Given the description of an element on the screen output the (x, y) to click on. 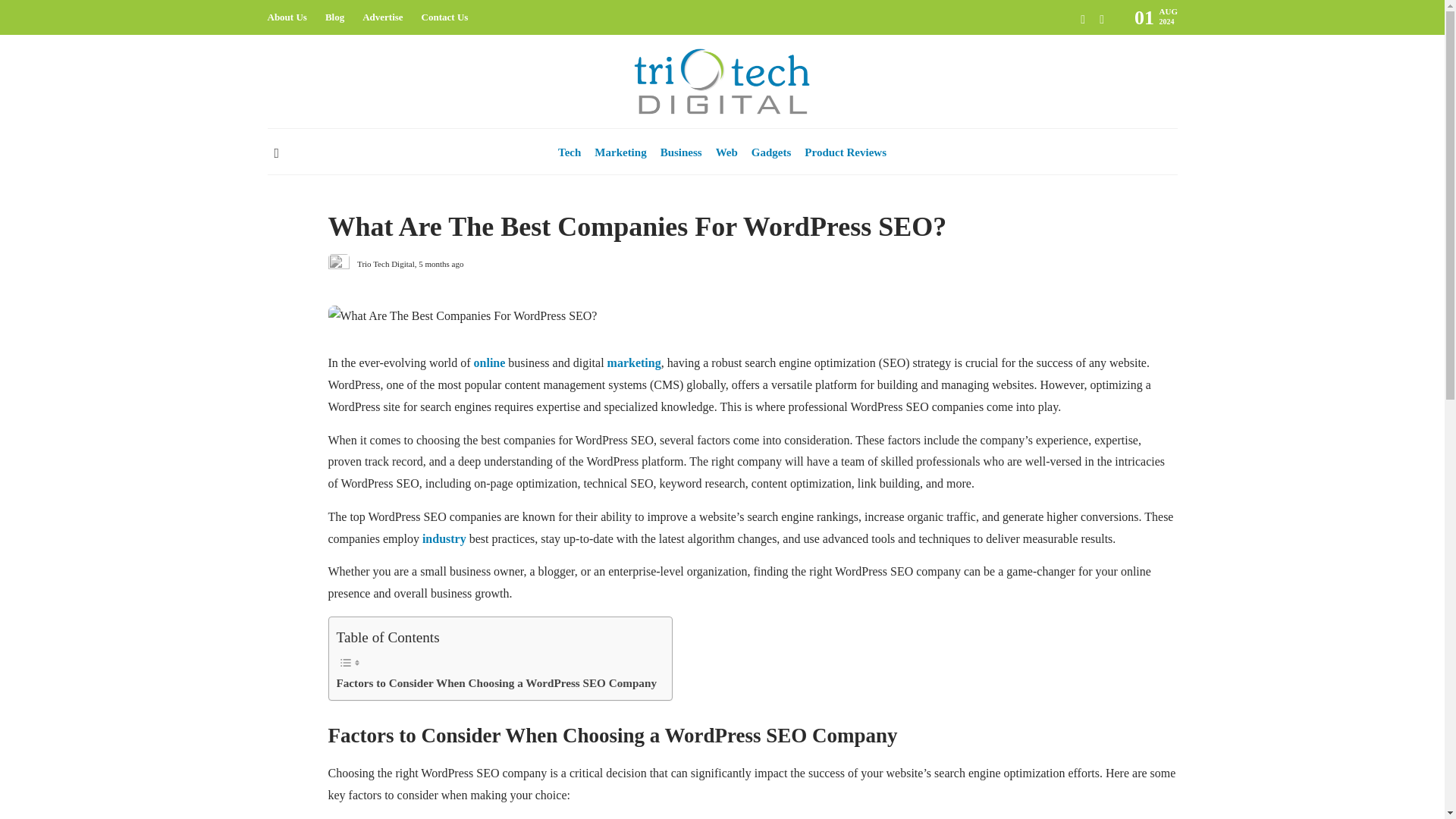
industry (443, 538)
marketing (634, 362)
Product Reviews (845, 151)
online (489, 362)
About Us (285, 17)
What Are The Best Companies For WordPress SEO? (740, 230)
Trio Tech Digital (385, 263)
Contact Us (445, 17)
Business (344, 195)
Factors to Consider When Choosing a WordPress SEO Company (497, 683)
Factors to Consider When Choosing a WordPress SEO Company (497, 683)
Business (681, 151)
Advertise (382, 17)
Marketing (620, 151)
5 months ago (441, 263)
